Given the description of an element on the screen output the (x, y) to click on. 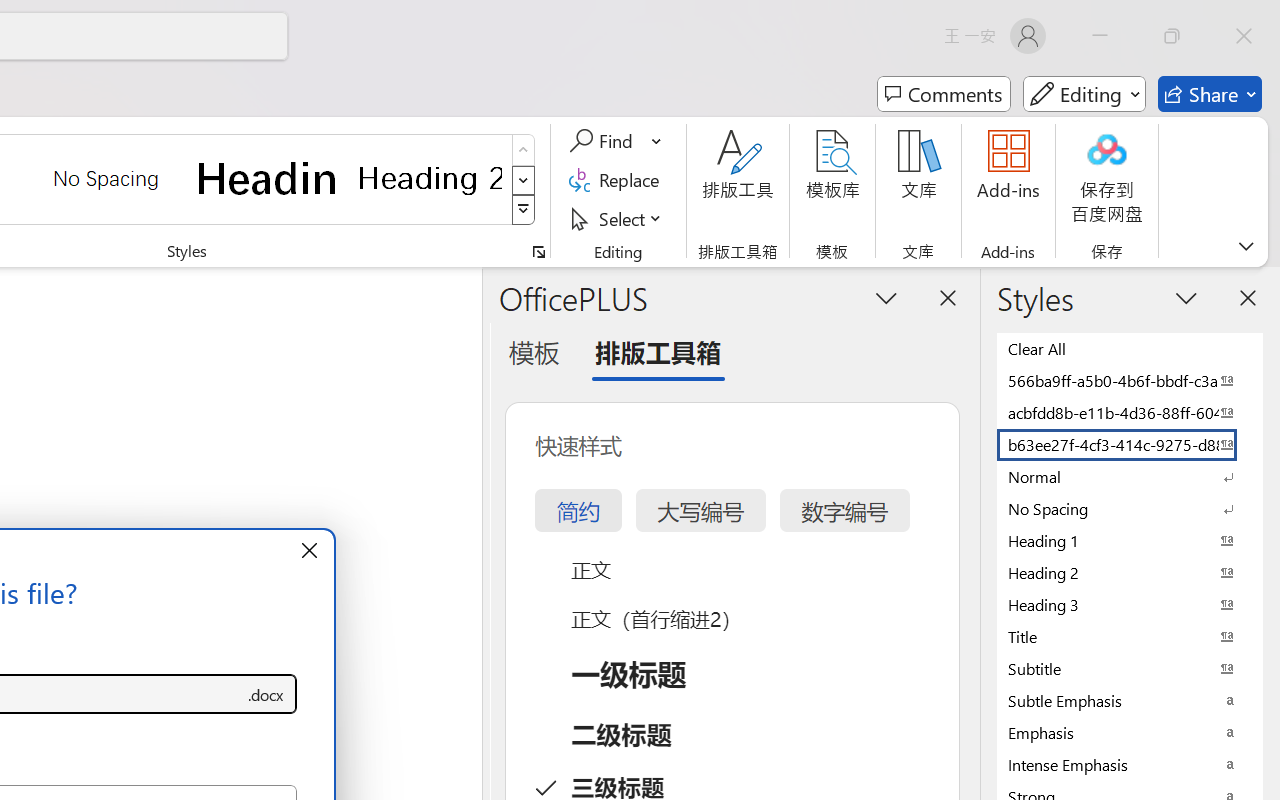
Comments (943, 94)
Save as type (265, 694)
No Spacing (1130, 508)
Subtle Emphasis (1130, 700)
Select (618, 218)
Subtitle (1130, 668)
b63ee27f-4cf3-414c-9275-d88e3f90795e (1130, 444)
Normal (1130, 476)
